Given the description of an element on the screen output the (x, y) to click on. 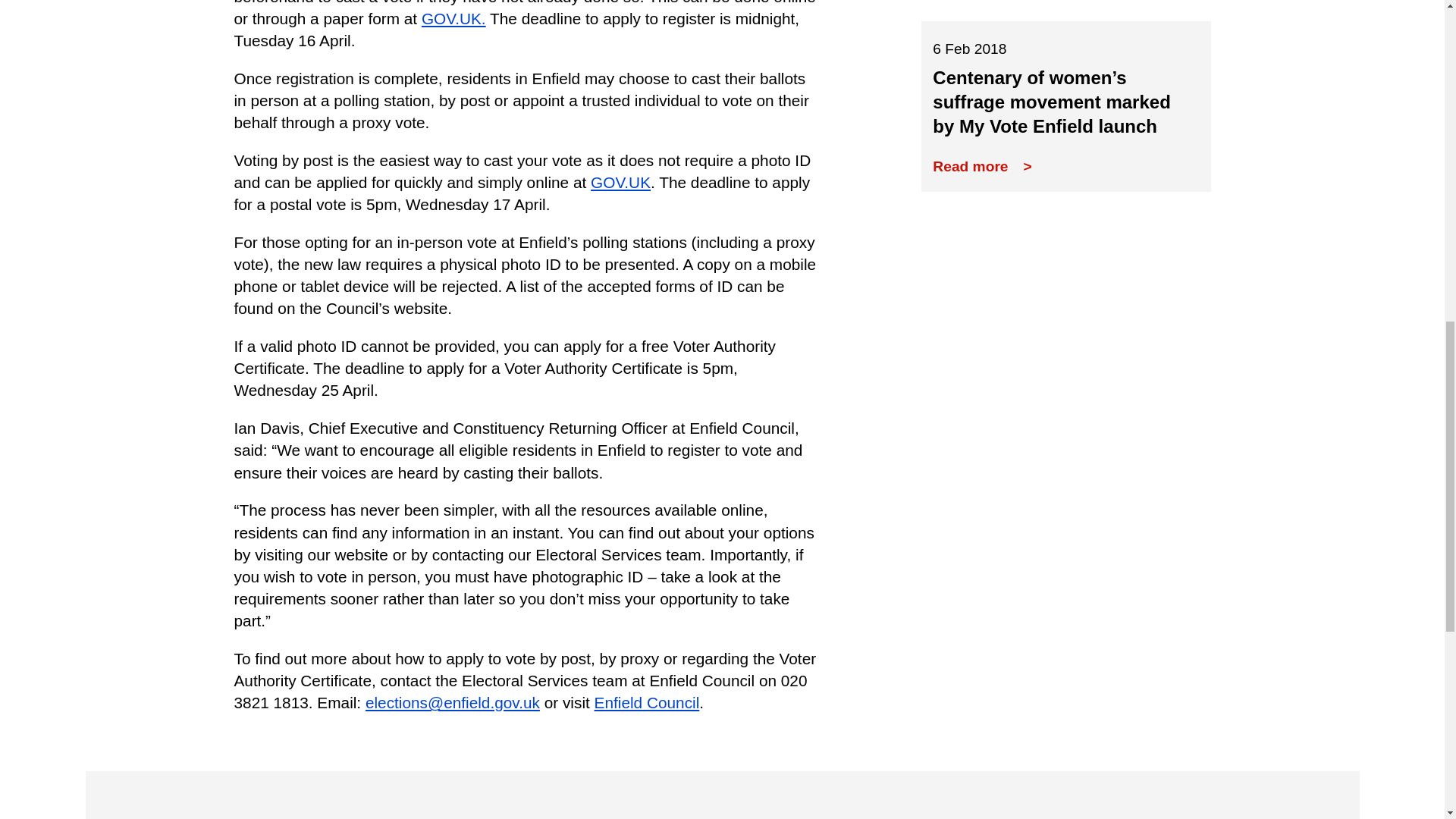
GOV.UK (620, 181)
GOV.UK (454, 18)
